Given the description of an element on the screen output the (x, y) to click on. 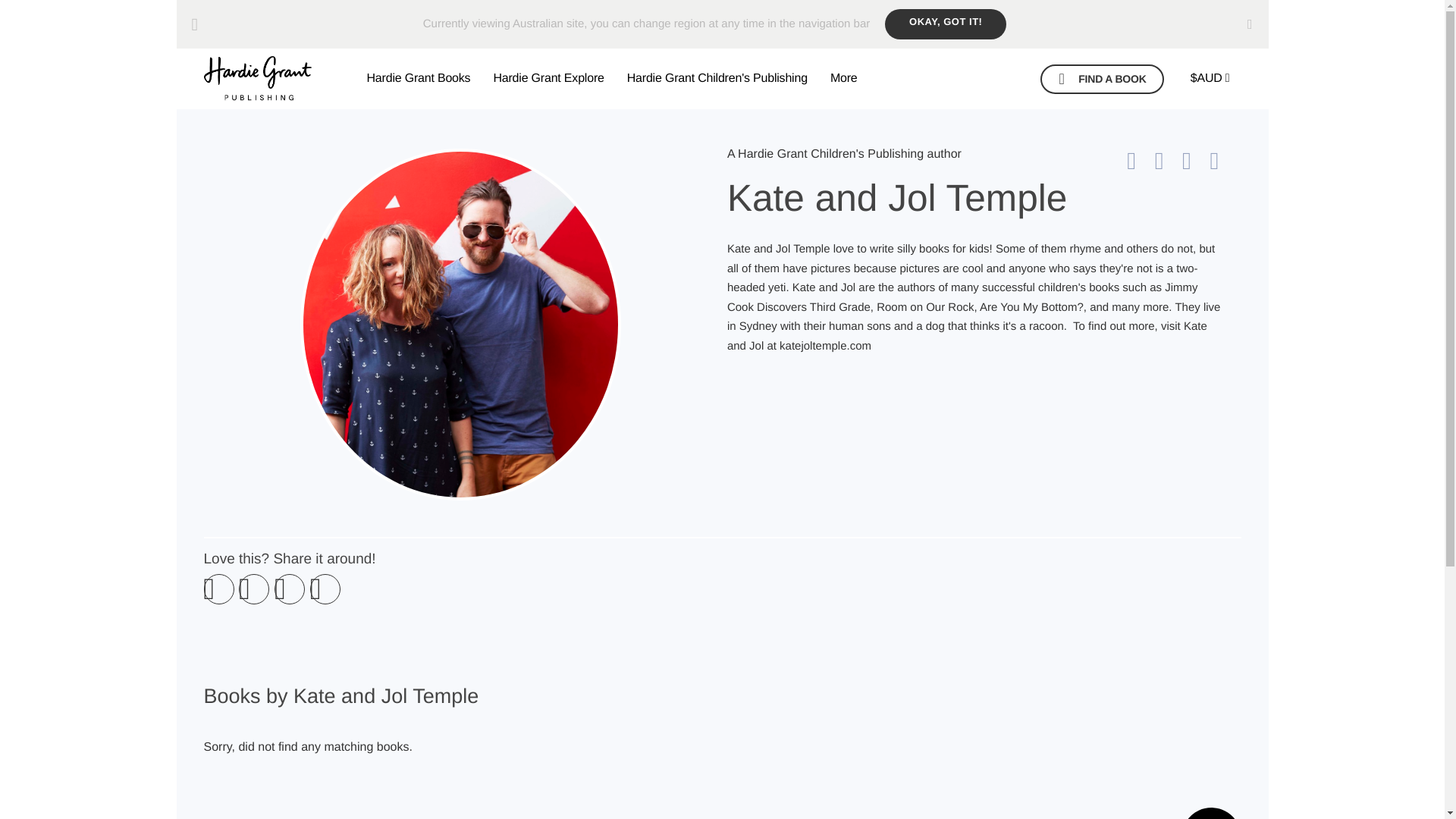
follow us (1221, 160)
follow us (1194, 160)
like us (1166, 160)
subscribe to our newsletter (1138, 160)
Hardie Grant Books (418, 78)
OKAY, GOT IT! (945, 24)
Hardie Grant Children's Publishing (716, 78)
find a book (1102, 78)
Hardie Grant Explore (547, 78)
